Given the description of an element on the screen output the (x, y) to click on. 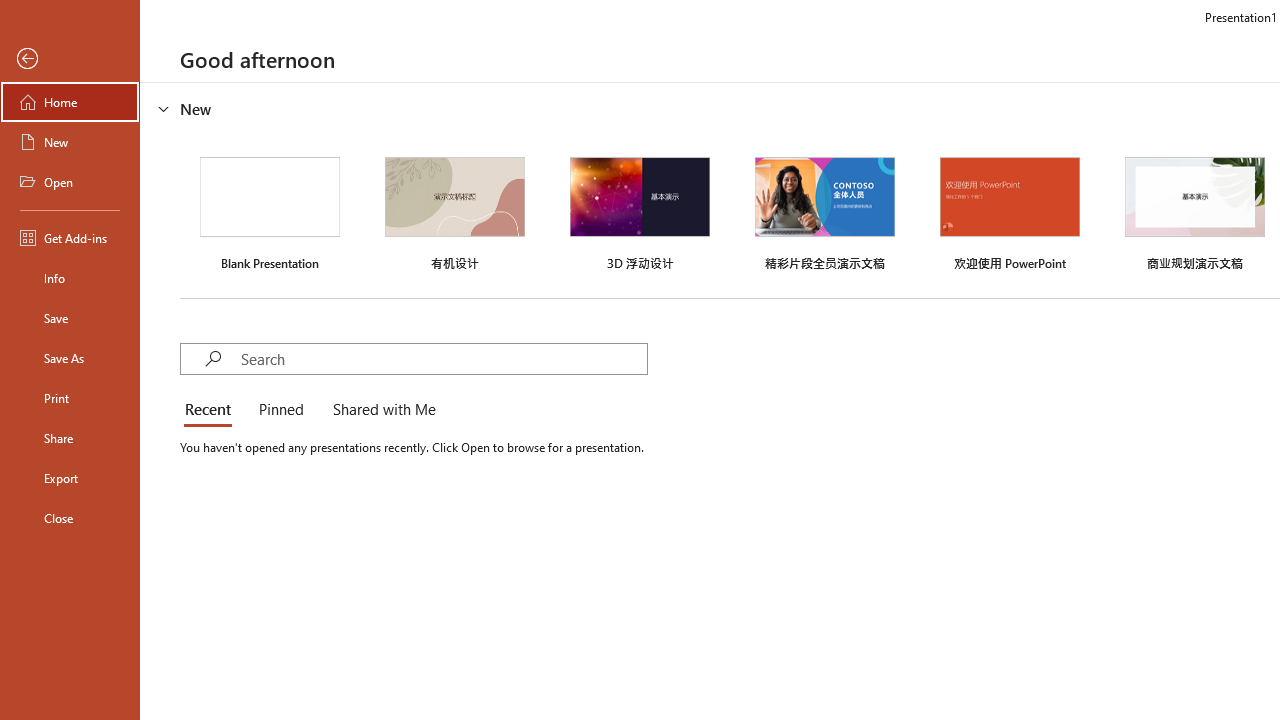
Home (69, 101)
Get Add-ins (69, 237)
Share (69, 437)
Save (69, 317)
Blank Presentation (269, 211)
Hide or show region (164, 108)
Search (443, 358)
Recent (212, 410)
